Given the description of an element on the screen output the (x, y) to click on. 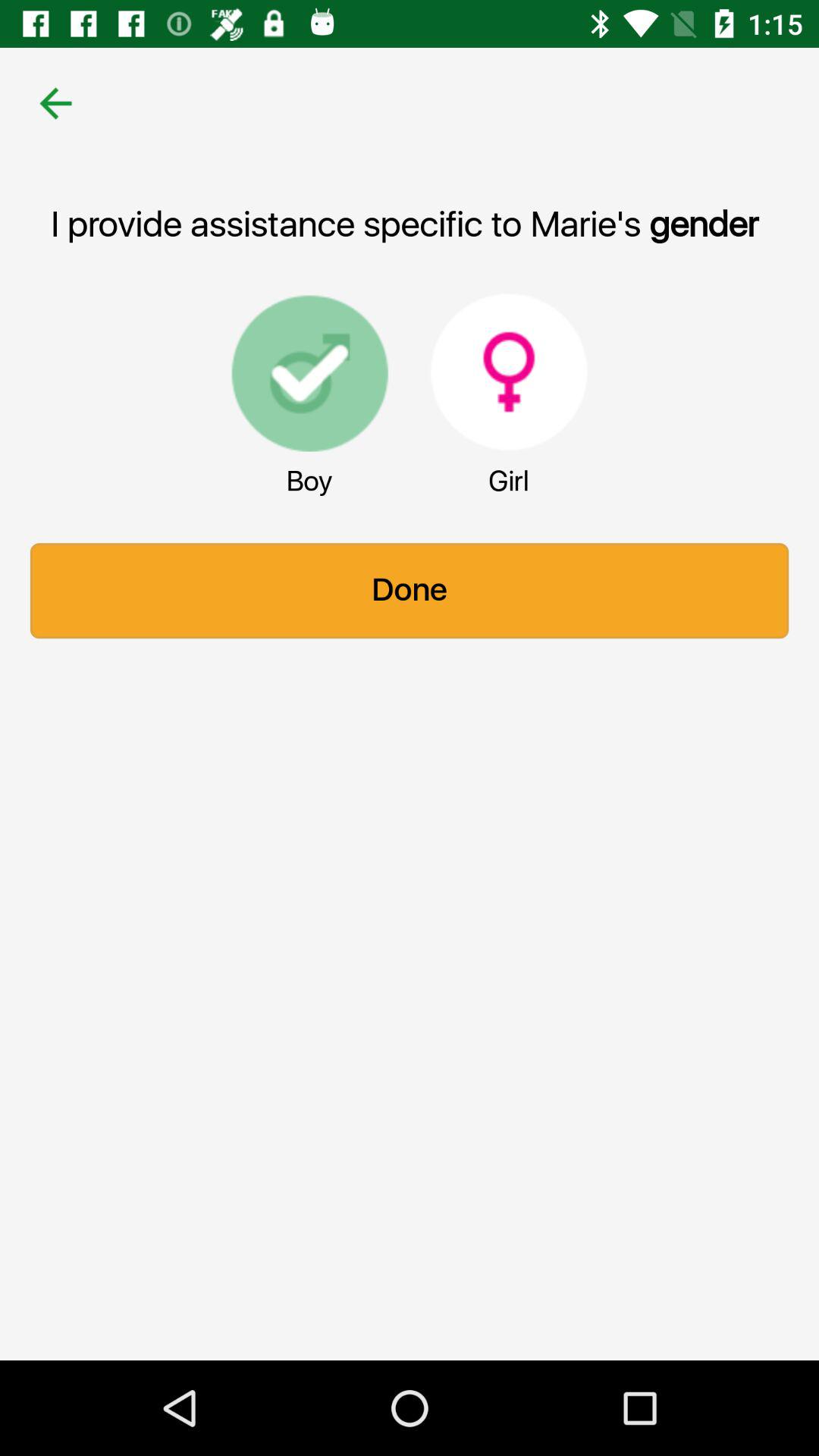
choose female as gender by clicking icon (508, 371)
